Given the description of an element on the screen output the (x, y) to click on. 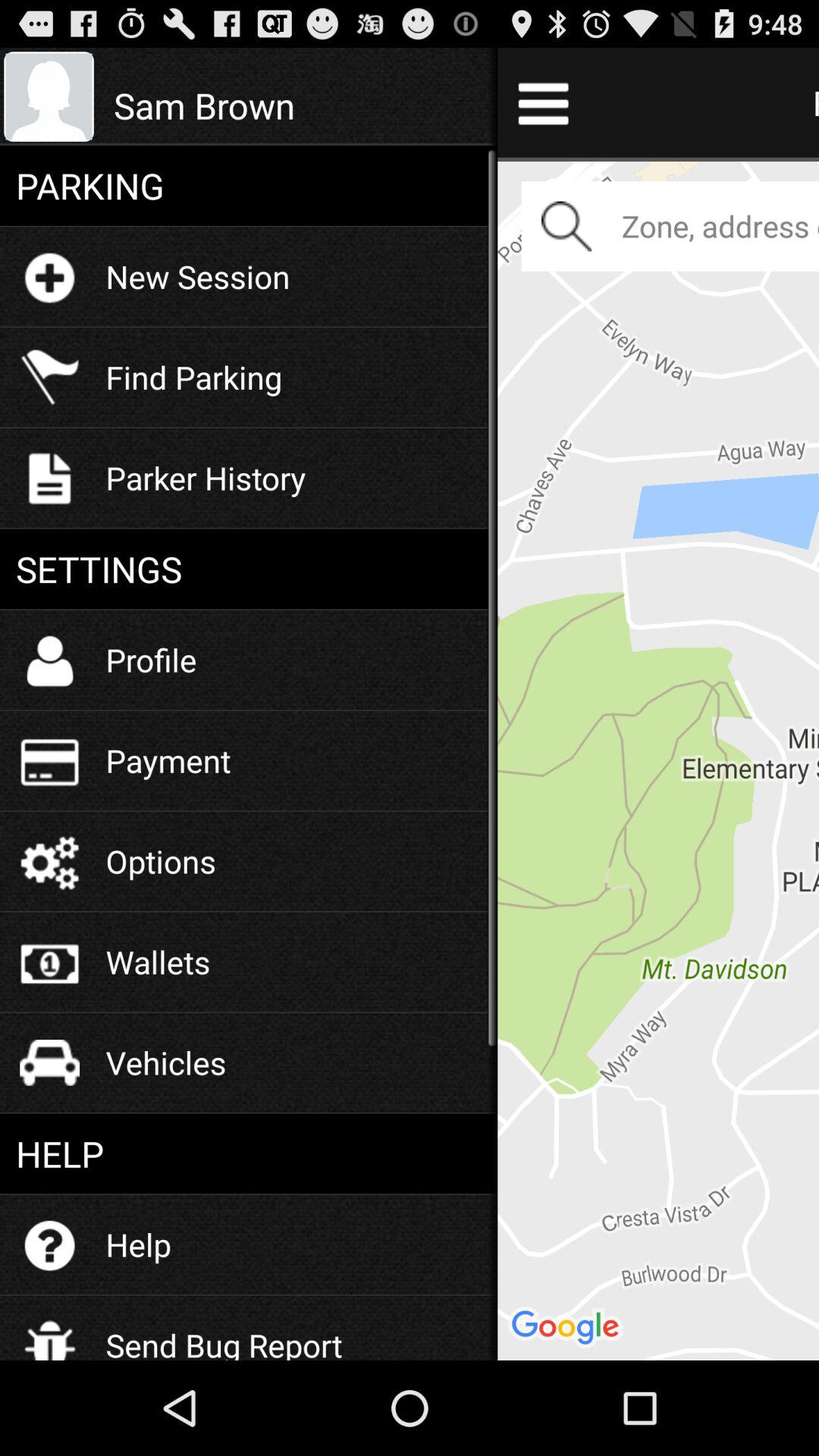
press icon to the right of sam
brown (658, 758)
